Given the description of an element on the screen output the (x, y) to click on. 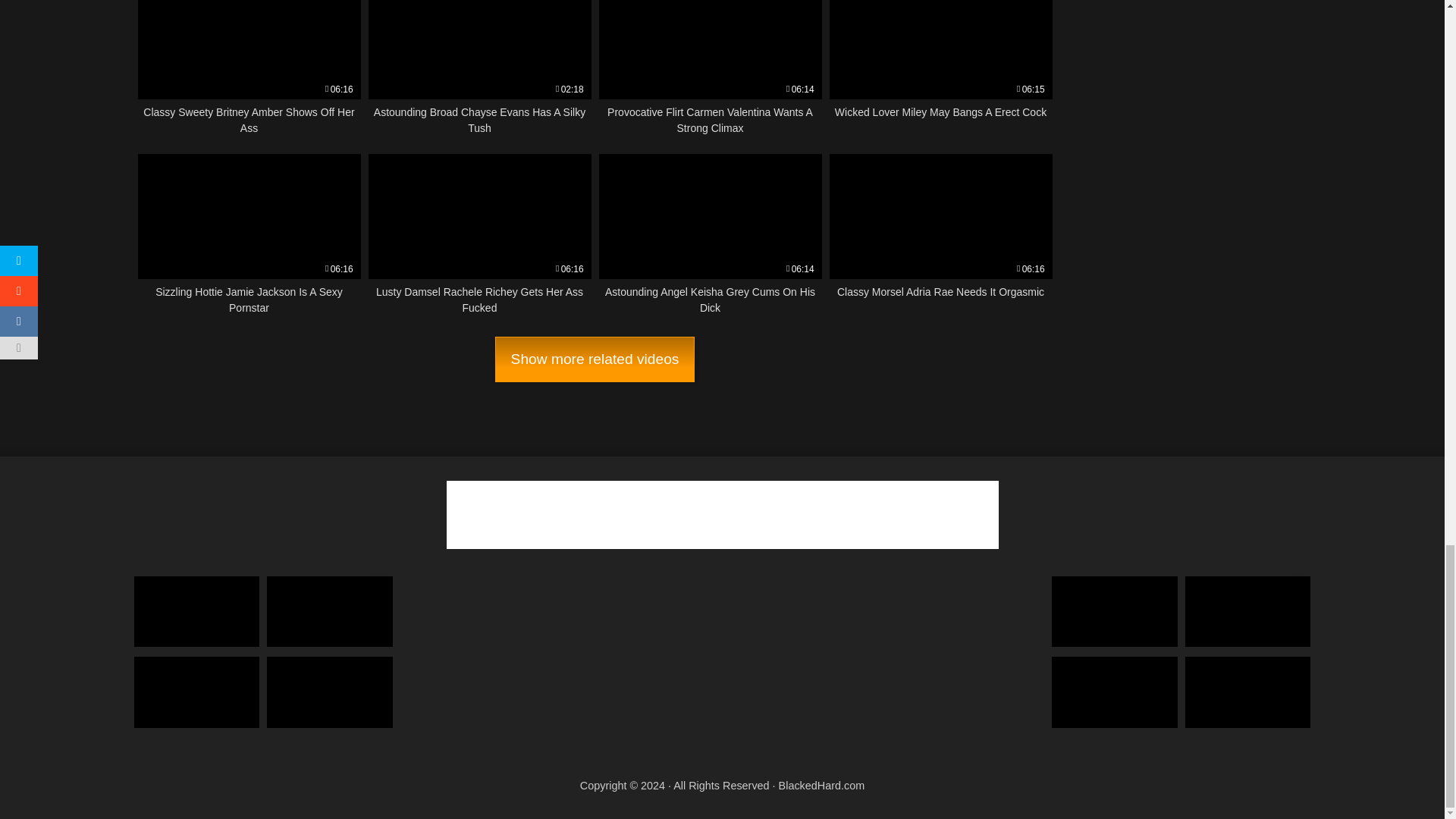
Astounding Angel Keisha Grey Cums On His Dick (710, 234)
Sizzling Hottie Jamie Jackson Is A Sexy Pornstar (249, 234)
Astounding Broad Chayse Evans Has A Silky Tush (479, 68)
Provocative Flirt Carmen Valentina Wants A Strong Climax (710, 68)
Classy Sweety Britney Amber Shows Off Her Ass (940, 234)
Lusty Damsel Rachele Richey Gets Her Ass Fucked (940, 68)
Show more related videos (249, 68)
Wicked Lover Miley May Bangs A Erect Cock (479, 234)
